Given the description of an element on the screen output the (x, y) to click on. 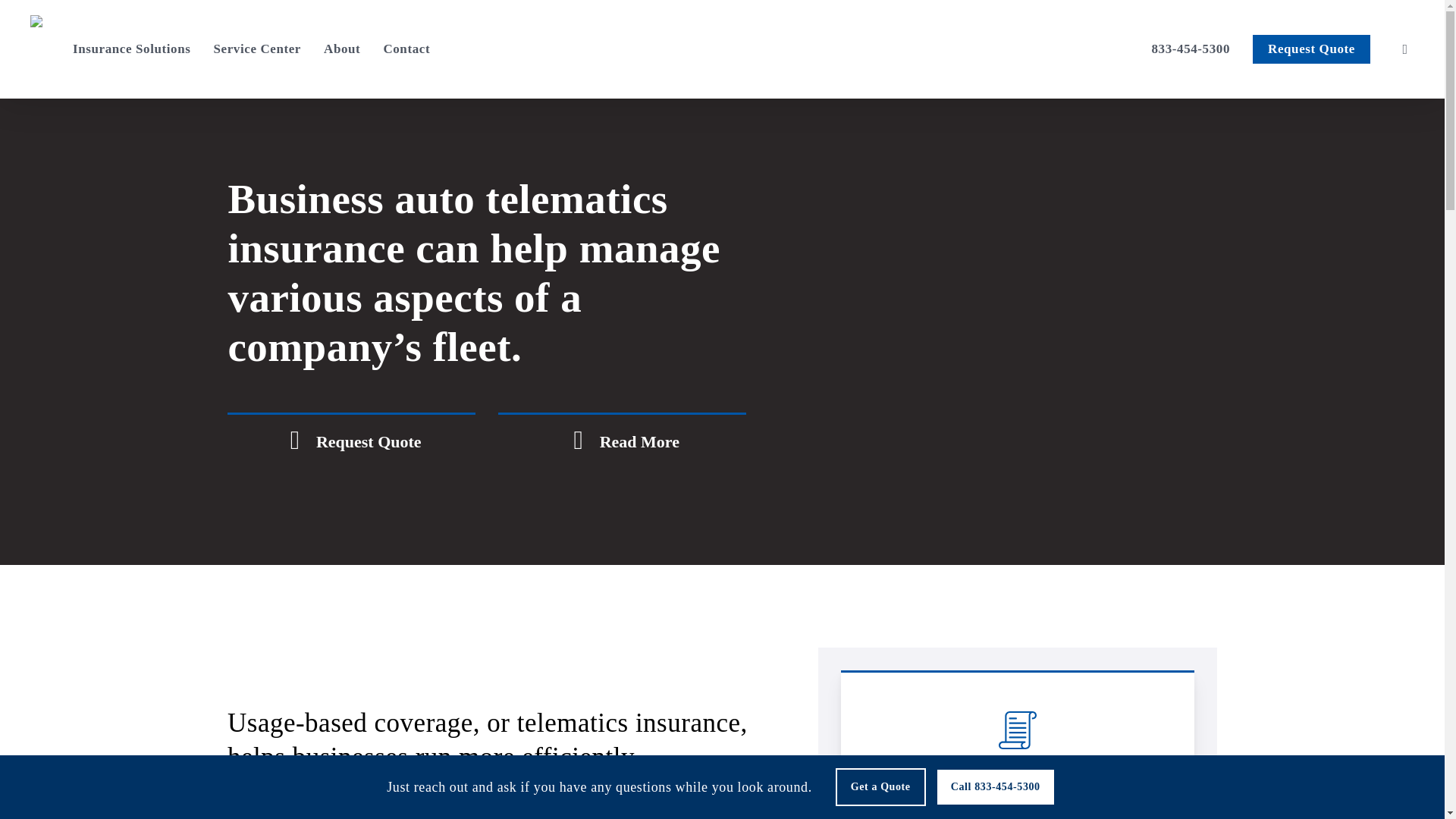
Service Center (256, 48)
Insurance Solutions (131, 48)
